Given the description of an element on the screen output the (x, y) to click on. 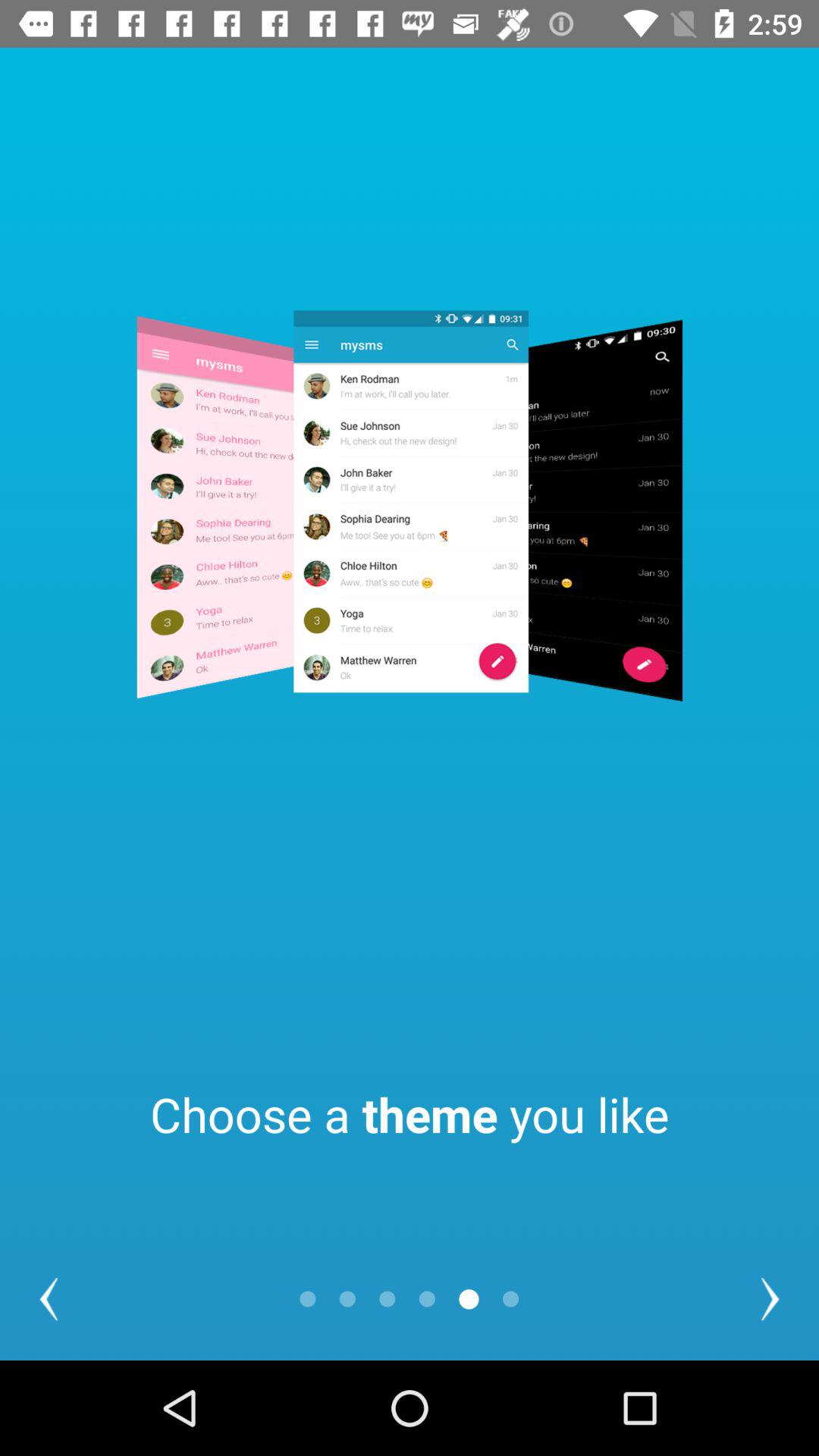
press the icon at the bottom right corner (769, 1299)
